Given the description of an element on the screen output the (x, y) to click on. 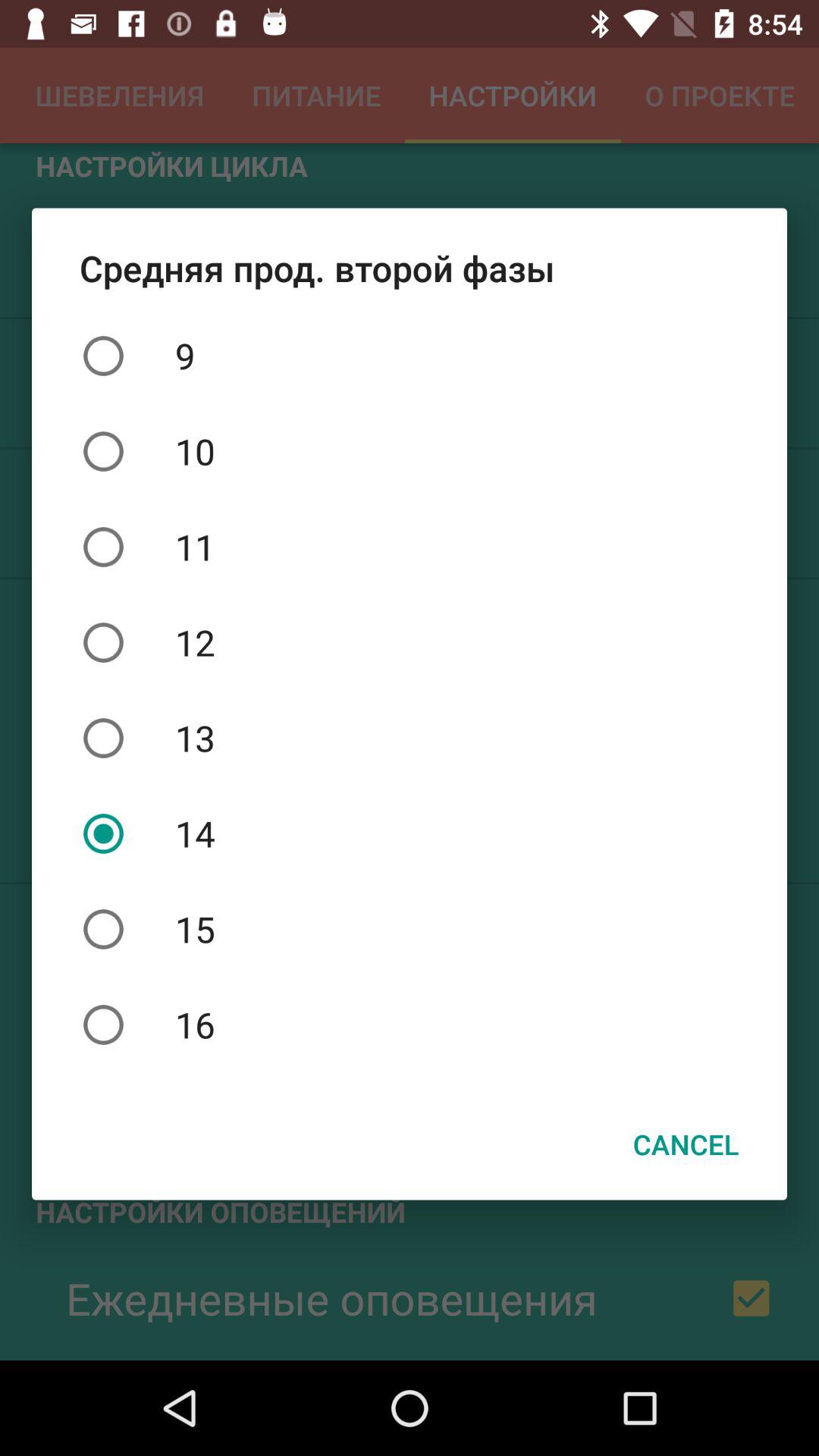
click item above 16 item (409, 929)
